Given the description of an element on the screen output the (x, y) to click on. 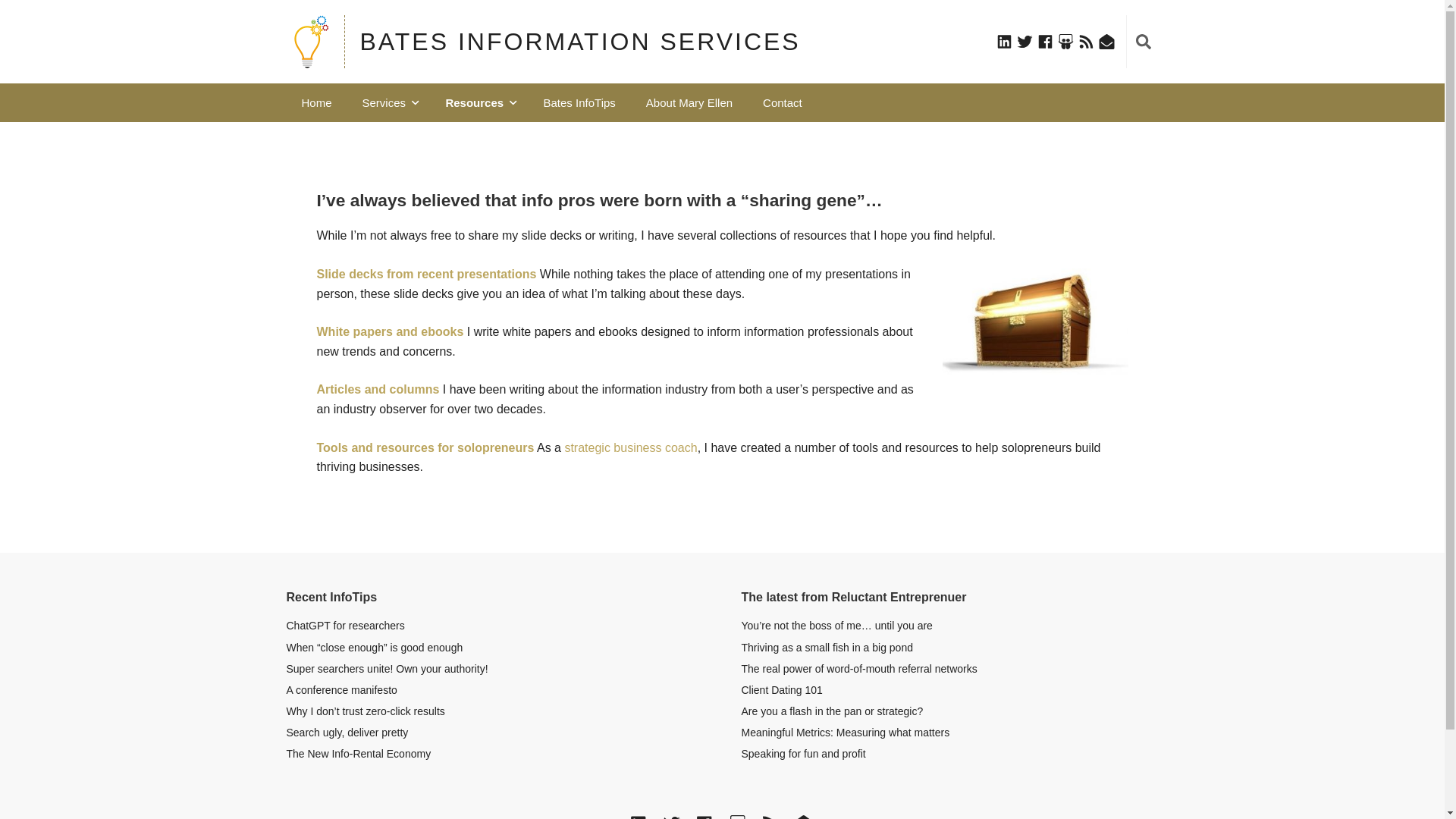
strategic business coach (630, 447)
About Mary Ellen (689, 102)
White papers and ebooks (390, 331)
Home (316, 102)
A conference manifesto (341, 689)
Super searchers unite! Own your authority! (386, 668)
Contact (782, 102)
The New Info-Rental Economy (358, 753)
Bates InfoTips (579, 102)
Articles and columns (378, 389)
Slide decks from recent presentations (427, 273)
Search ugly, deliver pretty (347, 732)
Tools and resources for solopreneurs (425, 447)
ChatGPT for researchers (345, 625)
Services (388, 102)
